Given the description of an element on the screen output the (x, y) to click on. 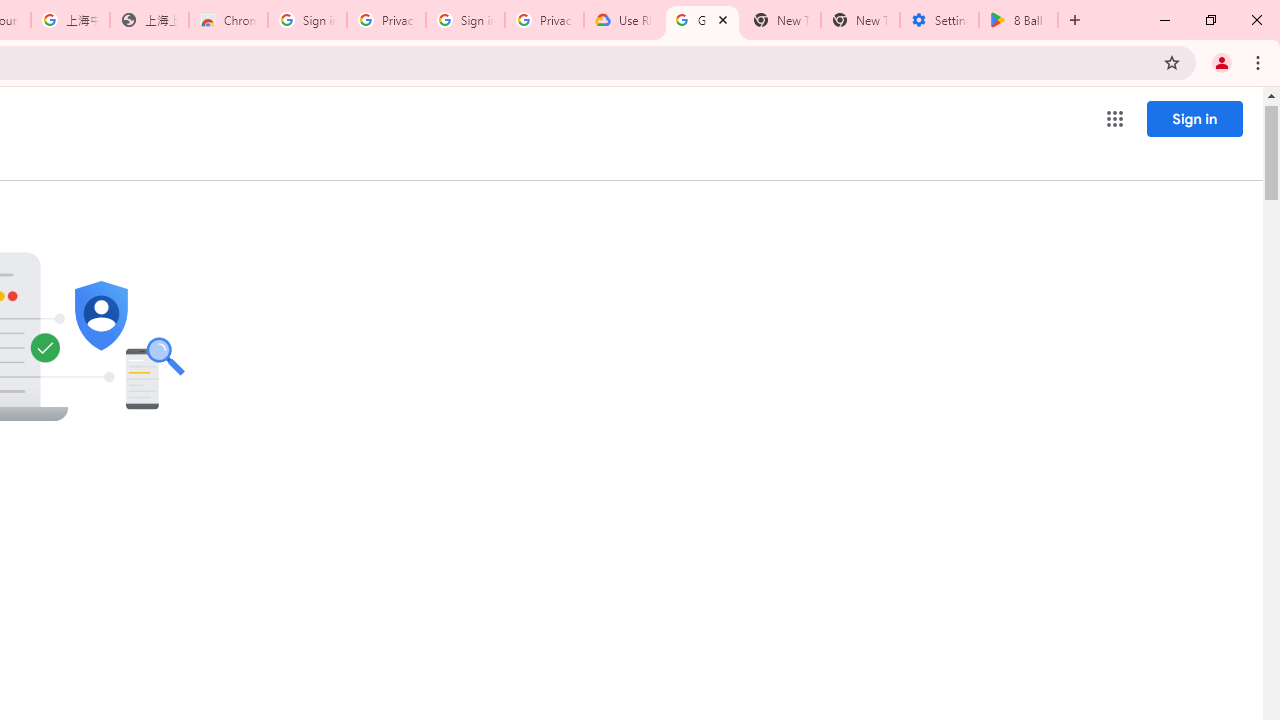
Settings - System (939, 20)
New Tab (859, 20)
